Given the description of an element on the screen output the (x, y) to click on. 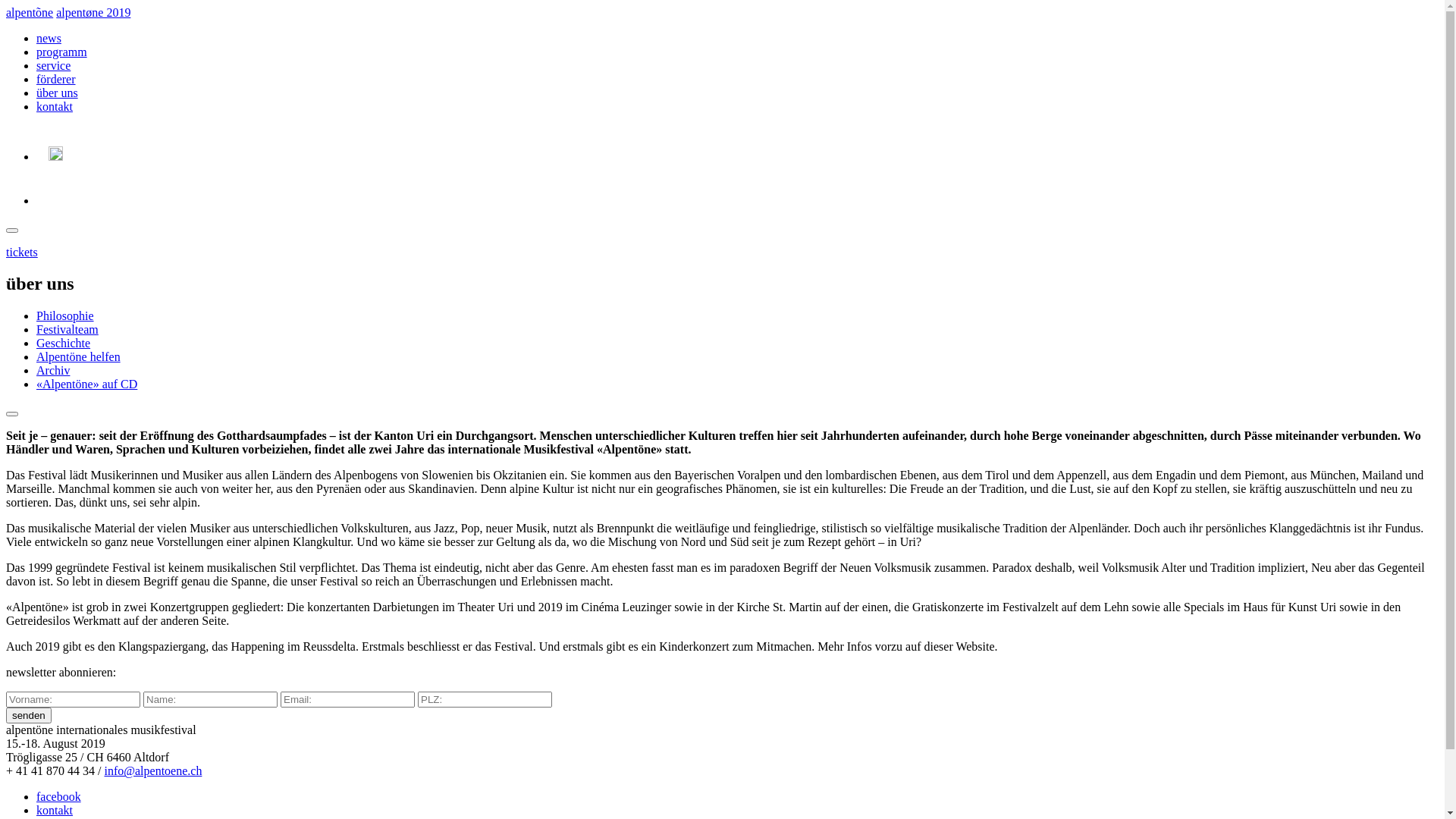
Geschichte Element type: text (63, 342)
kontakt Element type: text (54, 106)
facebook Element type: text (58, 796)
Archiv Element type: text (52, 370)
info@alpentoene.ch Element type: text (152, 770)
service Element type: text (53, 65)
news Element type: text (48, 37)
programm Element type: text (61, 51)
kontakt Element type: text (54, 809)
senden Element type: text (28, 715)
tickets Element type: text (21, 251)
Festivalteam Element type: text (67, 329)
Philosophie Element type: text (65, 315)
